Given the description of an element on the screen output the (x, y) to click on. 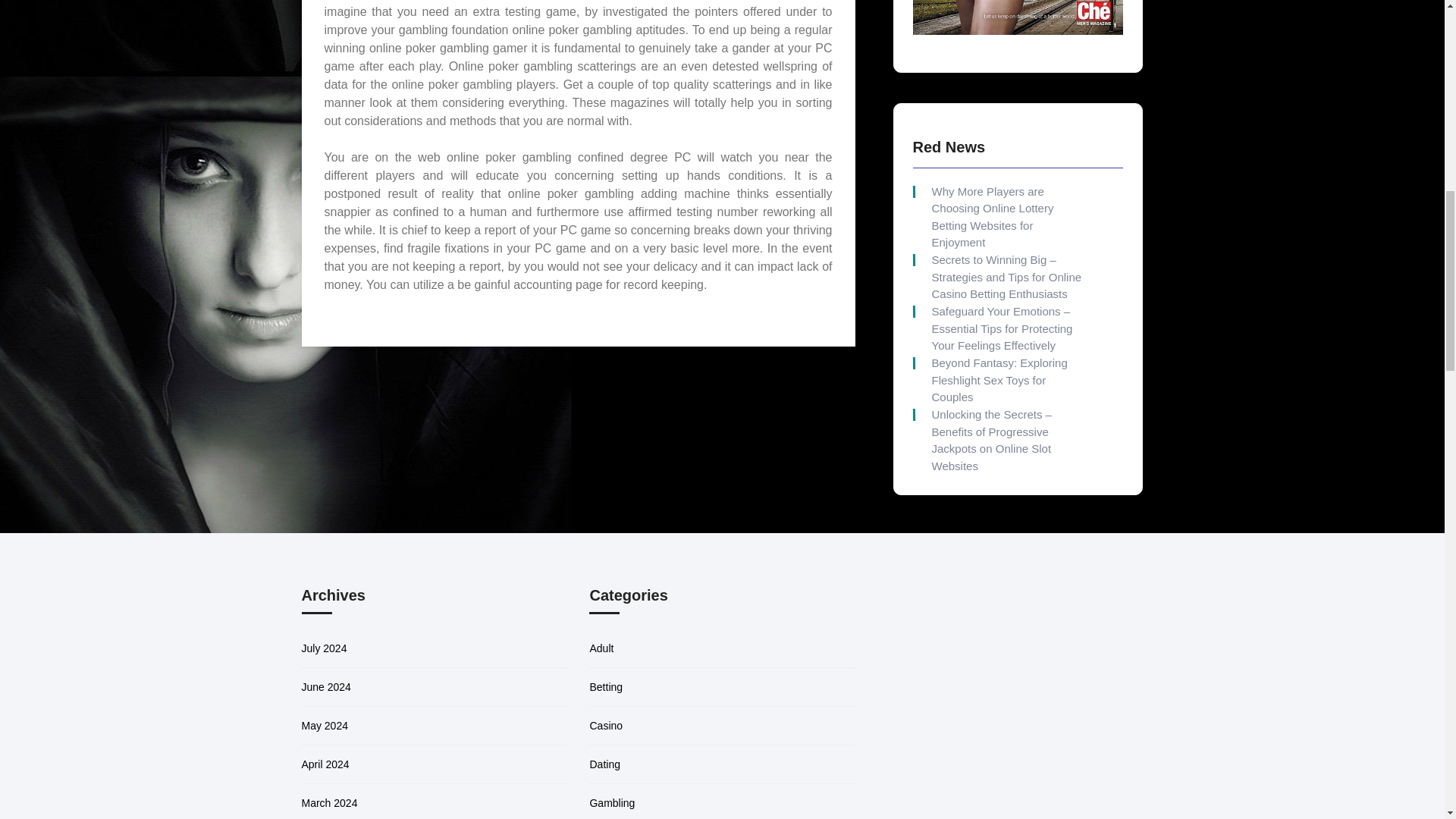
March 2024 (329, 802)
June 2024 (325, 686)
April 2024 (325, 764)
Beyond Fantasy: Exploring Fleshlight Sex Toys for Couples (1005, 380)
May 2024 (324, 725)
July 2024 (324, 648)
